Given the description of an element on the screen output the (x, y) to click on. 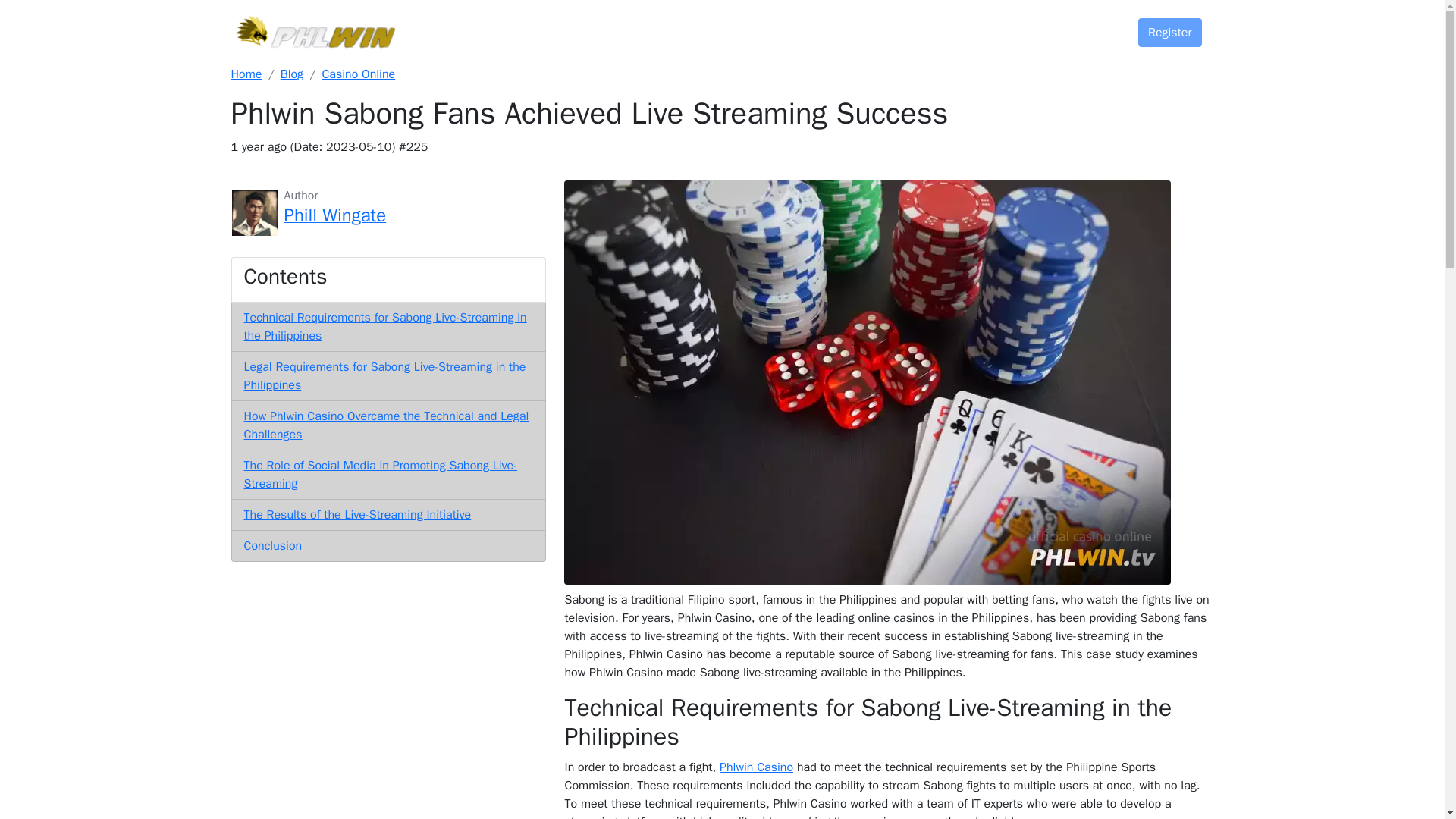
Register (1170, 32)
Blog (1027, 27)
The Role of Social Media in Promoting Sabong Live-Streaming  (380, 474)
Conclusion (273, 545)
Login (1088, 27)
Register (1170, 32)
Home (246, 73)
Phlwin (246, 73)
Phill Wingate (334, 217)
The Results of the Live-Streaming Initiative  (357, 514)
The Results of the Live-Streaming Initiative (357, 514)
Phlwin Blog (291, 73)
